Given the description of an element on the screen output the (x, y) to click on. 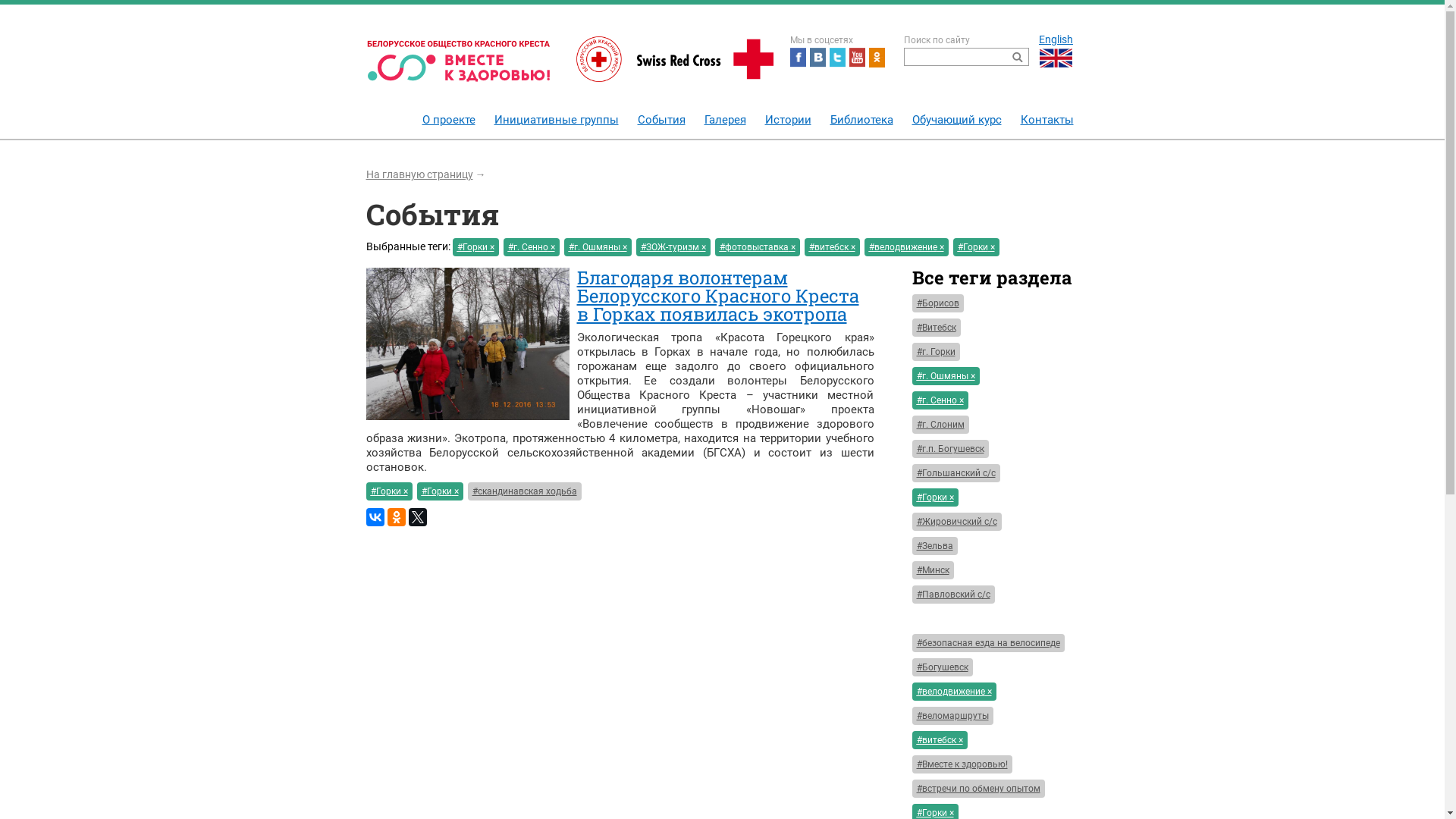
English Element type: text (1055, 49)
Twitter Element type: hover (416, 517)
youtube Element type: hover (857, 57)
facebook Element type: hover (798, 57)
Twitter Element type: hover (837, 57)
Vk Element type: hover (817, 57)
